Given the description of an element on the screen output the (x, y) to click on. 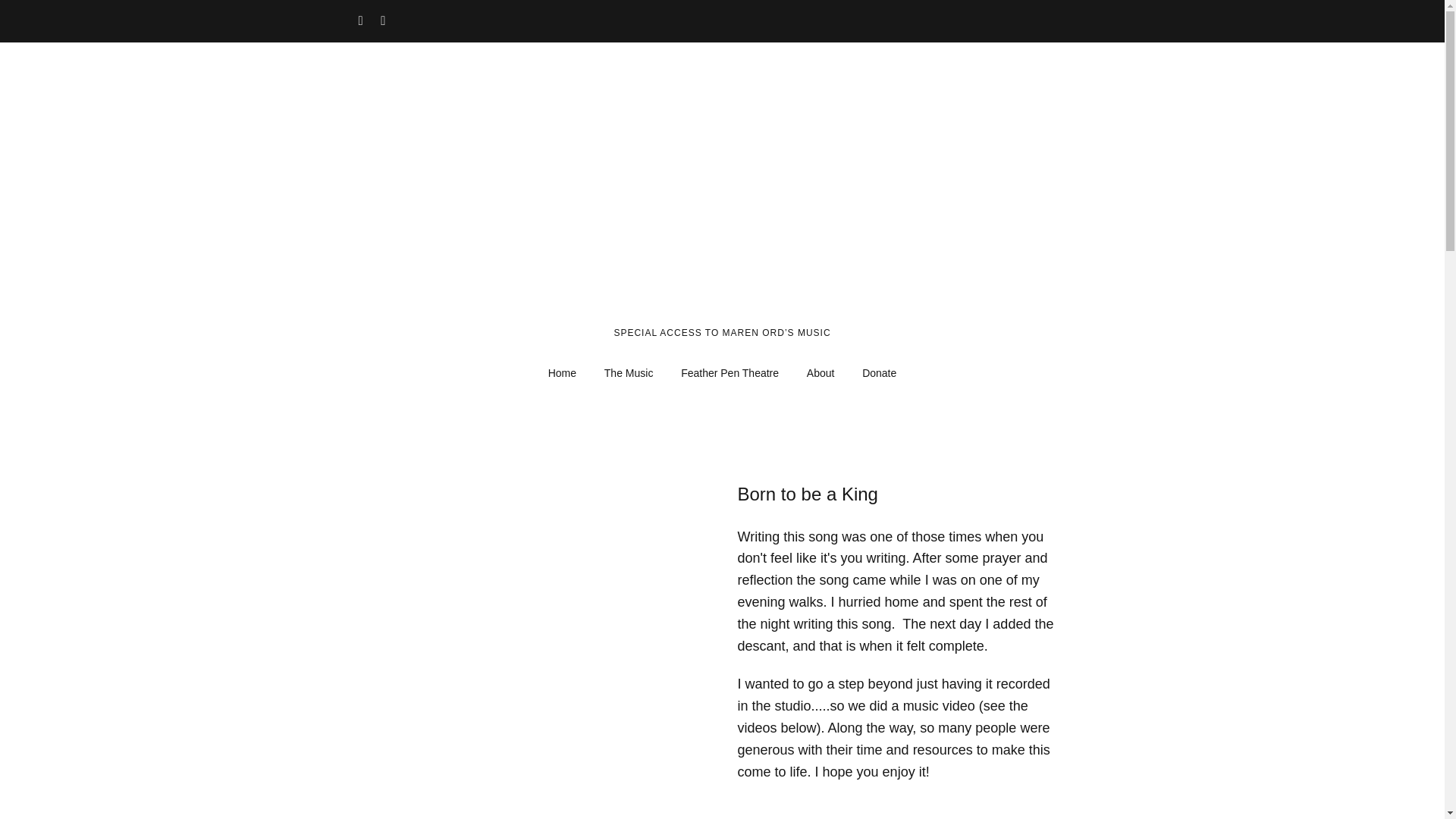
BornToBeaKingImage2 (547, 645)
Feather Pen Theatre (729, 373)
The Music (628, 373)
Donate (879, 373)
Home (561, 373)
About (820, 373)
